Given the description of an element on the screen output the (x, y) to click on. 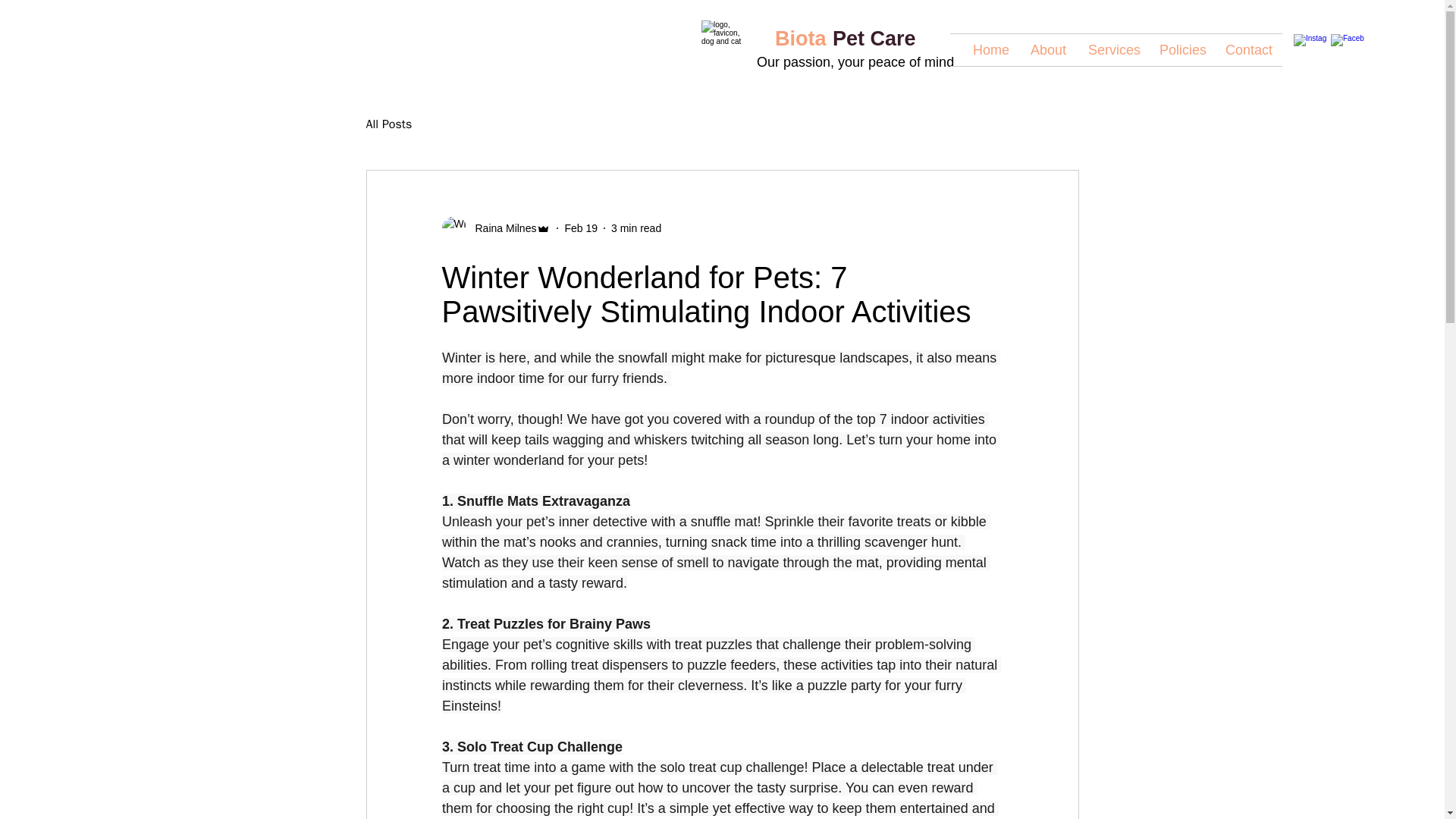
Raina Milnes (500, 227)
Contact (1248, 50)
Services (1112, 50)
About (1048, 50)
Raina Milnes (495, 228)
Home (989, 50)
All Posts (388, 124)
3 min read (636, 227)
Feb 19 (580, 227)
Biota-Pet-Care-RGB-Motif-HiRes.jpg (727, 46)
